Given the description of an element on the screen output the (x, y) to click on. 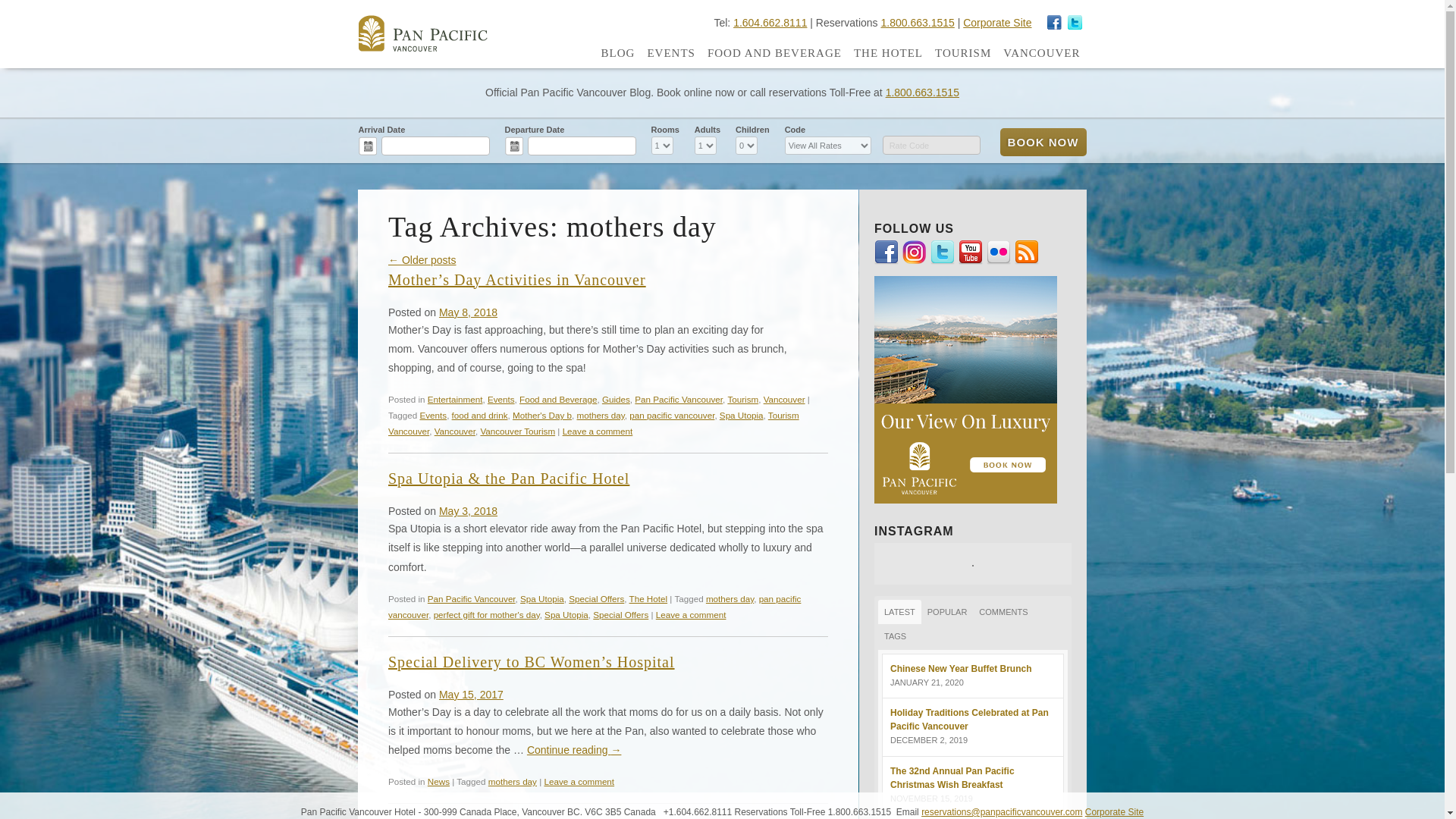
Events (501, 398)
pan pacific vancouver (671, 415)
TOURISM (962, 52)
10:59 am (468, 510)
... (513, 145)
Tourism (742, 398)
Vancouver (454, 430)
FOOD AND BEVERAGE (774, 52)
Tourism Vancouver (593, 422)
1.800.663.1515 (916, 22)
Mother's Day b (542, 415)
Pan Pacific Vancouver (678, 398)
food and drink (479, 415)
May 8, 2018 (468, 312)
Book Now (1042, 141)
